Given the description of an element on the screen output the (x, y) to click on. 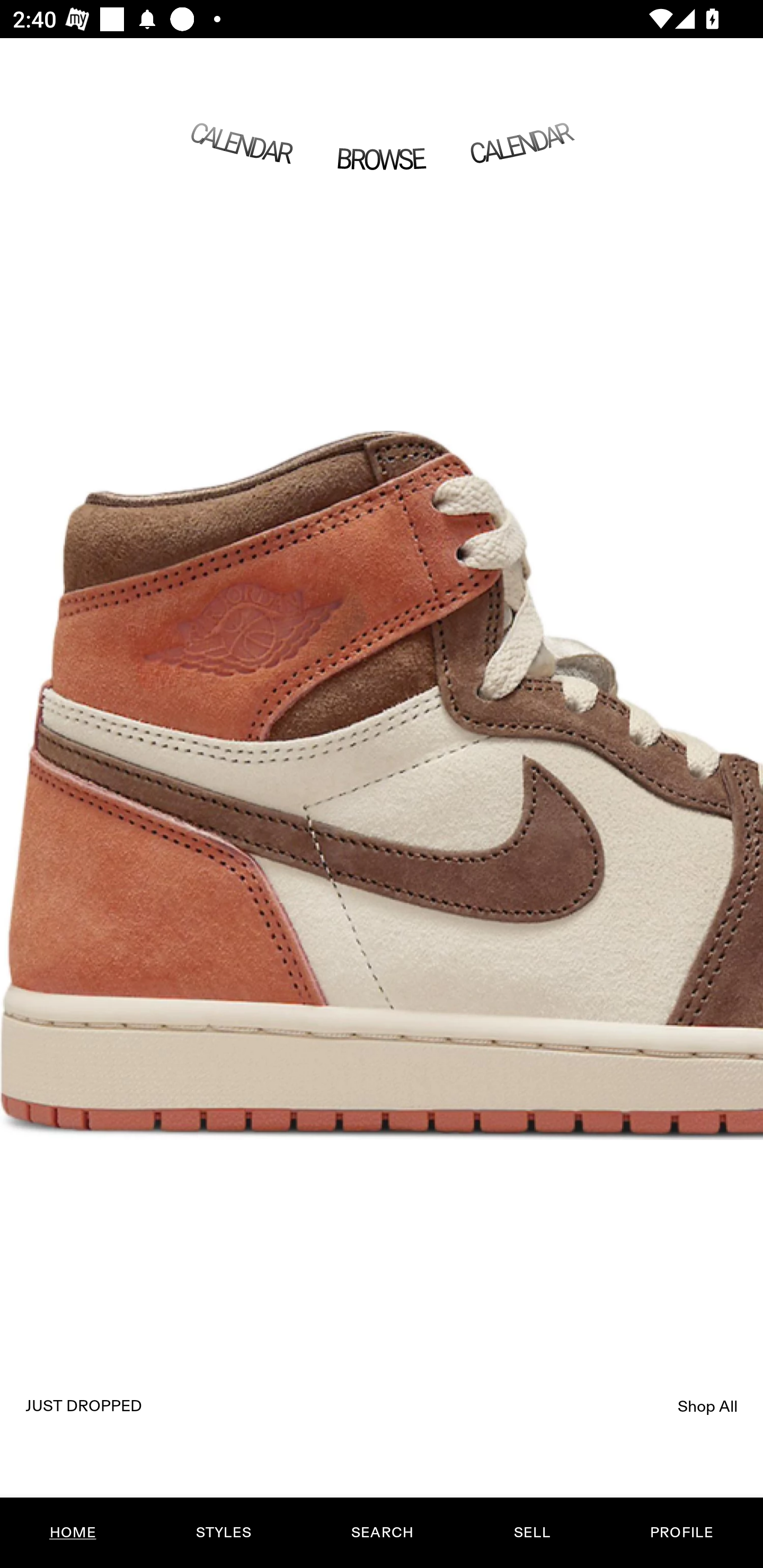
Shop All (707, 1406)
HOME (72, 1532)
STYLES (222, 1532)
SEARCH (381, 1532)
SELL (531, 1532)
PROFILE (681, 1532)
